Given the description of an element on the screen output the (x, y) to click on. 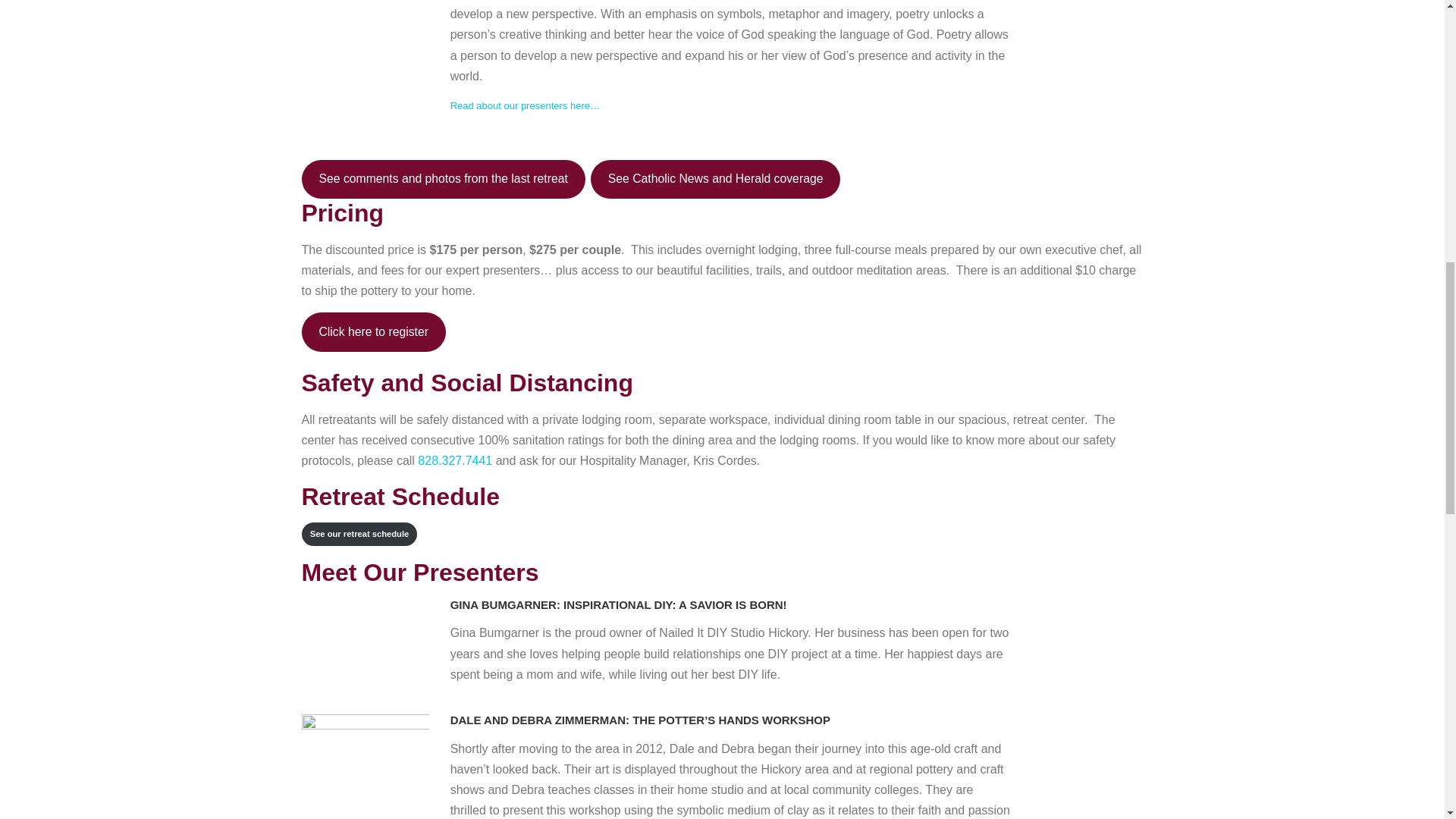
See Catholic News and Herald coverage (716, 179)
828.327.7441 (454, 460)
See our retreat schedule (359, 533)
Click here to register (373, 332)
See comments and photos from the last retreat (443, 179)
